Given the description of an element on the screen output the (x, y) to click on. 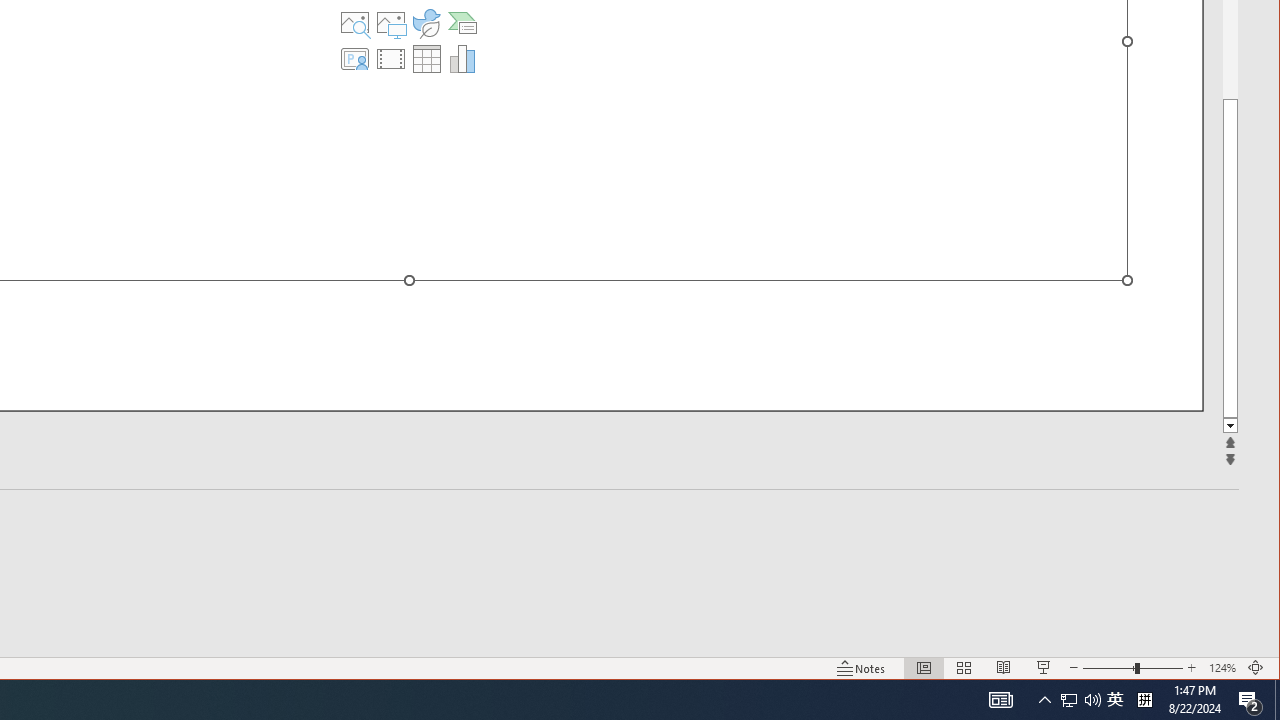
Zoom 124% (1222, 668)
Insert Table (426, 58)
Insert a SmartArt Graphic (462, 22)
Insert Cameo (355, 58)
Insert an Icon (426, 22)
Insert Video (391, 58)
